Given the description of an element on the screen output the (x, y) to click on. 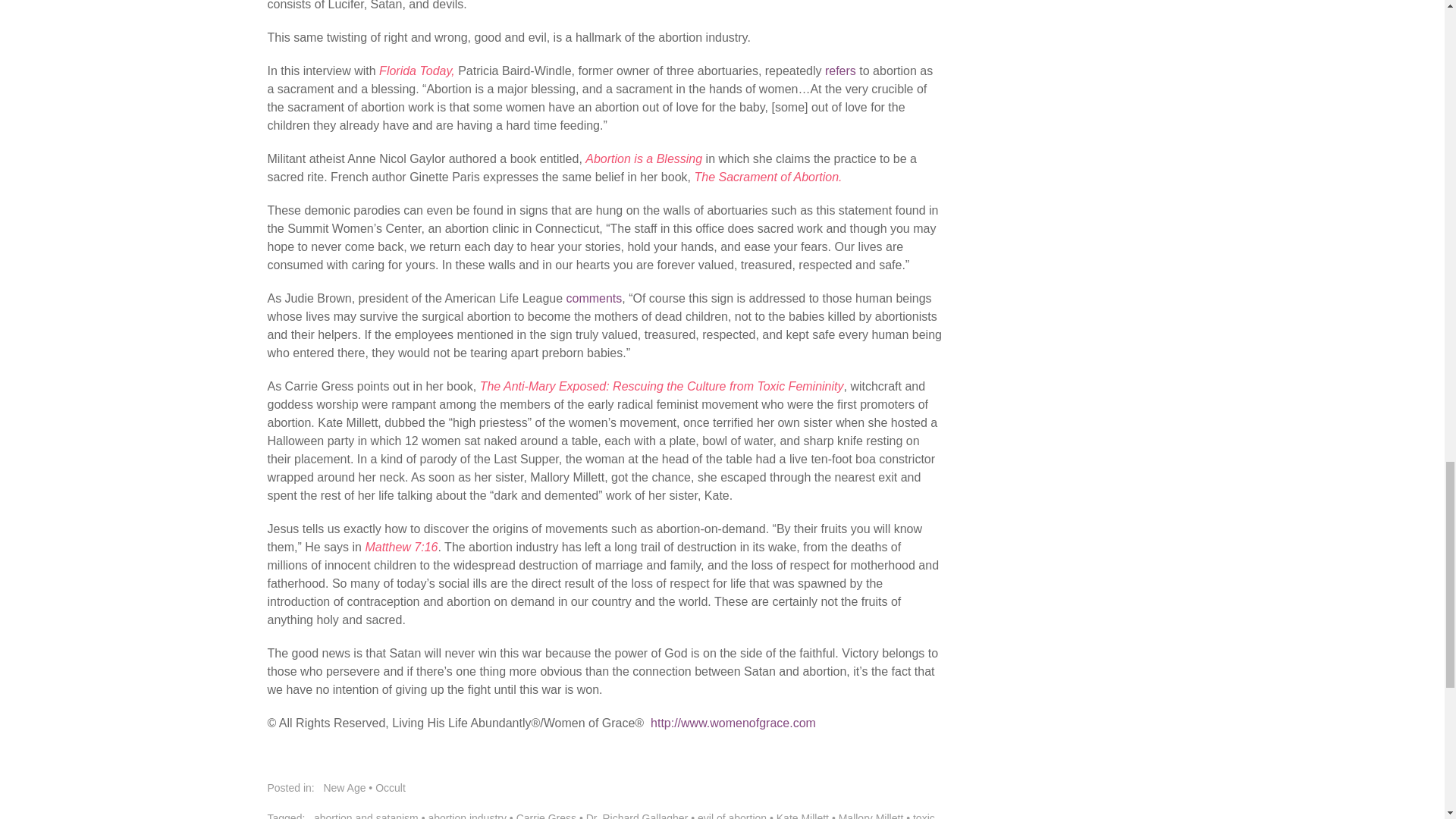
abortion and satanism (366, 815)
evil of abortion (732, 815)
Dr. Richard Gallagher (637, 815)
abortion industry (467, 815)
Occult (390, 787)
refers (840, 70)
New Age (344, 787)
comments (594, 297)
Carrie Gress (546, 815)
